Given the description of an element on the screen output the (x, y) to click on. 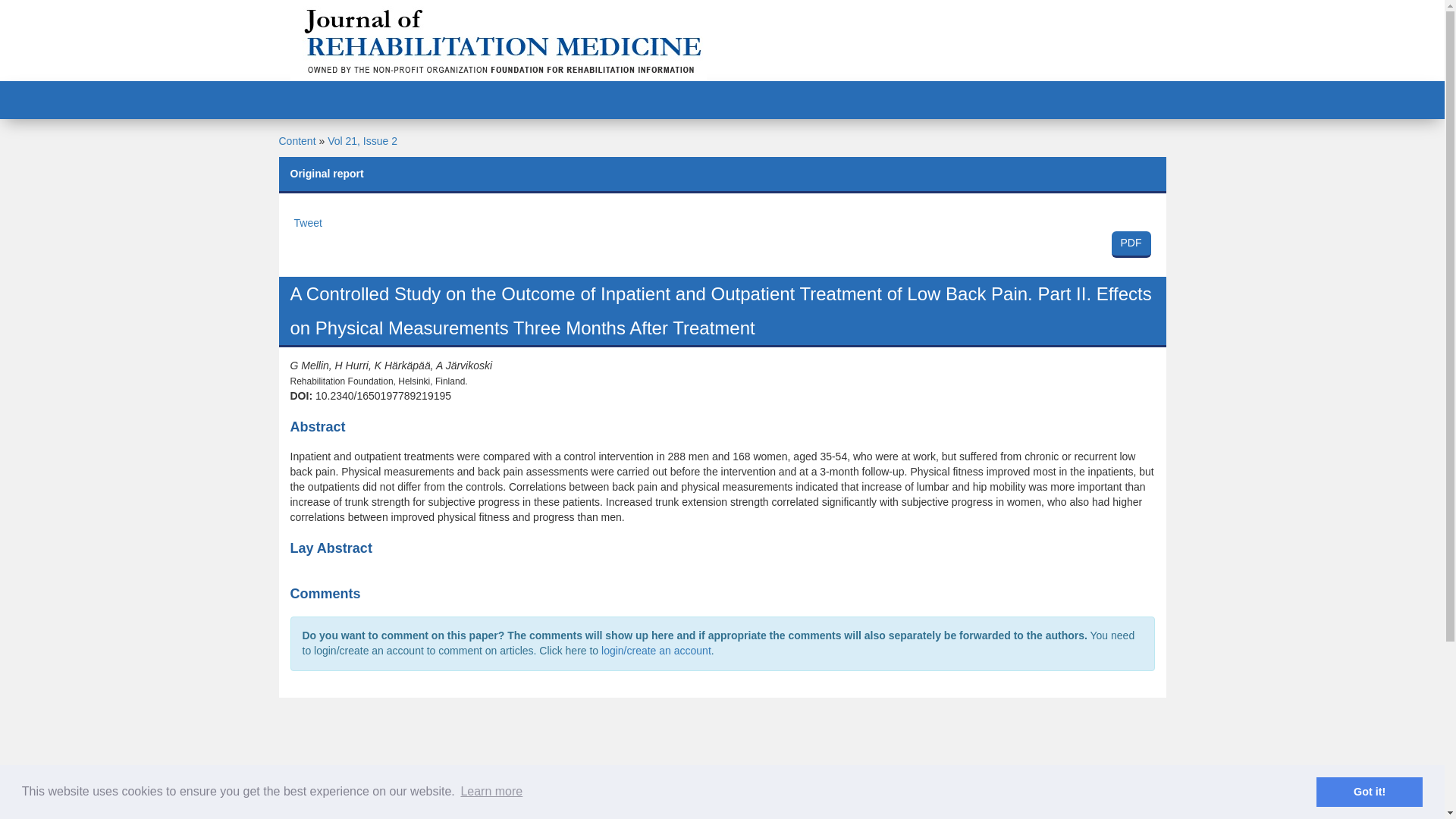
Content (297, 141)
Vol 21, Issue 2 (362, 141)
Learn more (491, 791)
Got it! (1369, 791)
Tweet (307, 223)
Advertisement (722, 242)
PDF (721, 765)
